Given the description of an element on the screen output the (x, y) to click on. 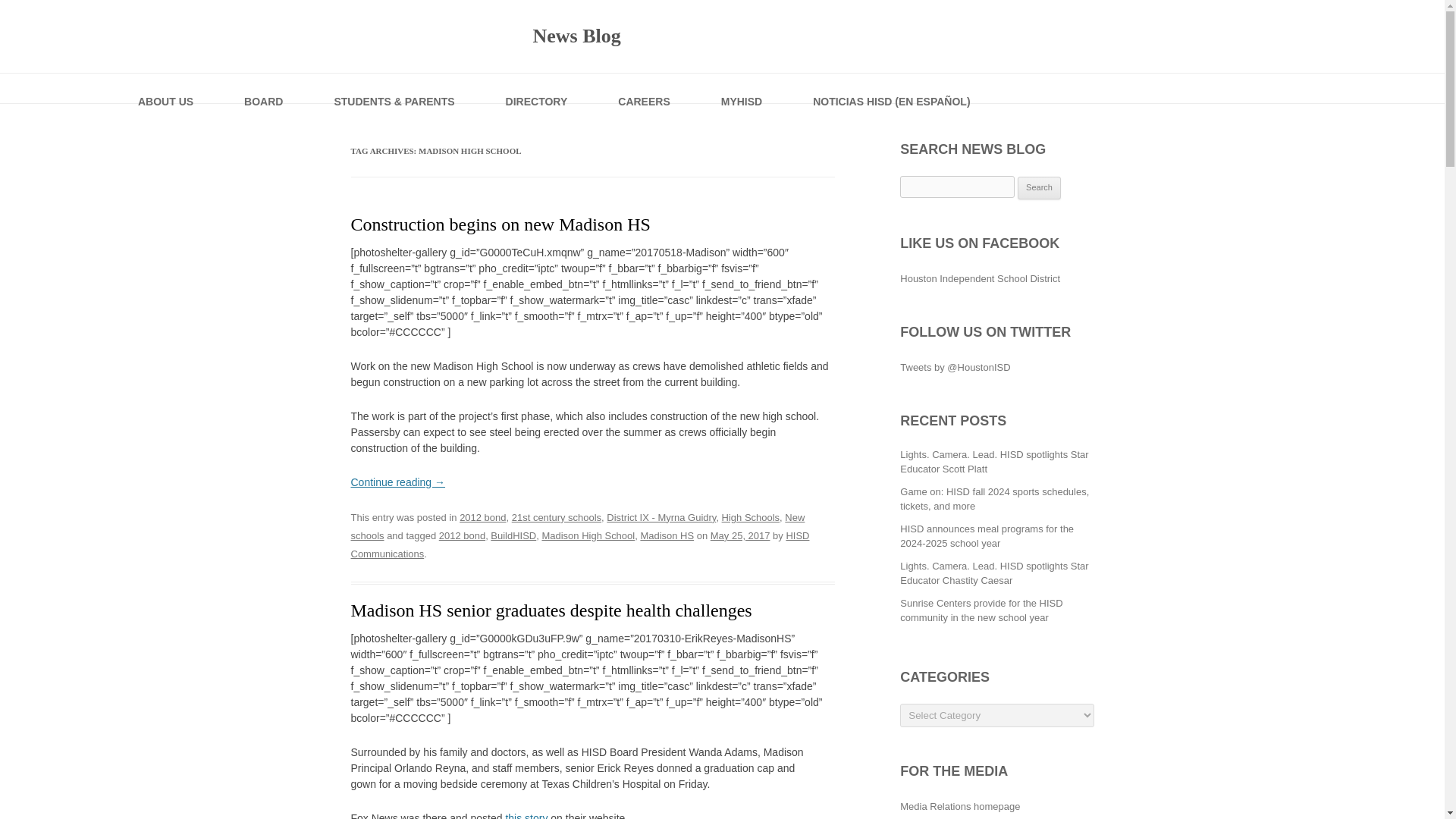
Search (1039, 187)
ABOUT US (167, 88)
HISD Communications (579, 544)
2012 bond (461, 535)
21st century schools (556, 517)
CAREERS (644, 88)
Madison HS senior graduates despite health challenges  (552, 609)
New schools (577, 526)
May 25, 2017 (740, 535)
BuildHISD (512, 535)
